Given the description of an element on the screen output the (x, y) to click on. 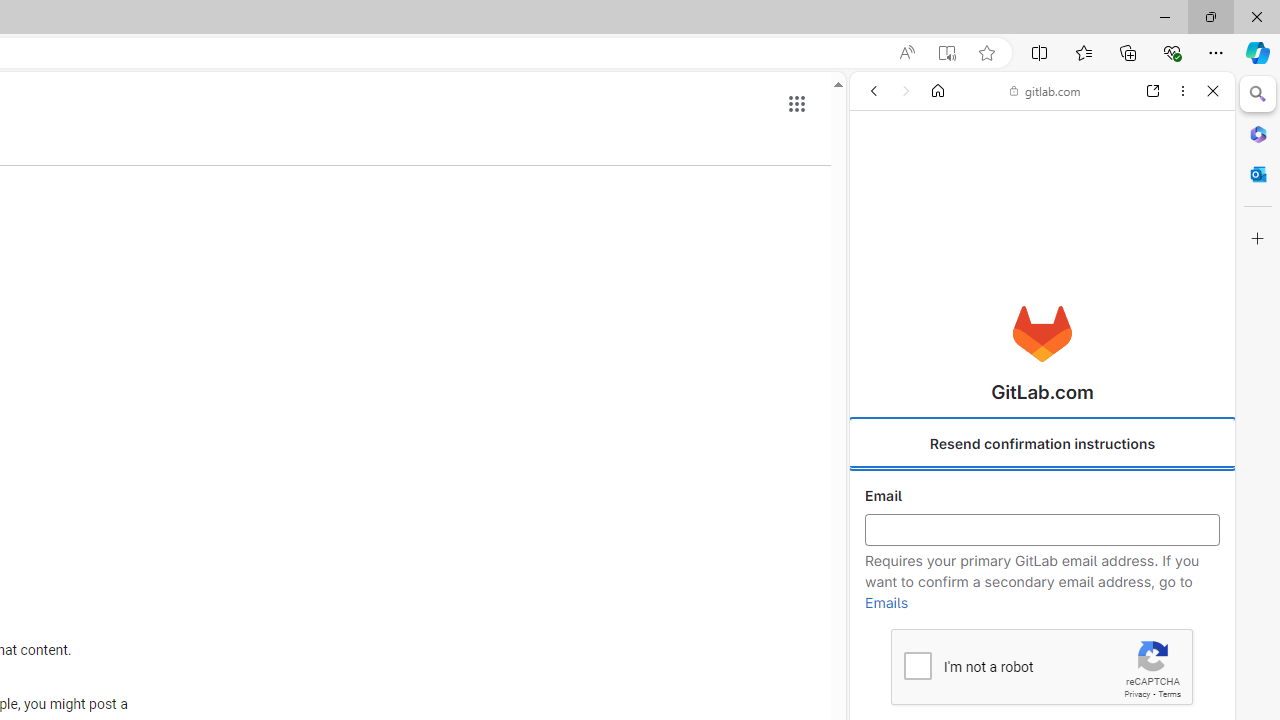
GitLab (1034, 288)
This site scope (936, 180)
Add this page to favorites (Ctrl+D) (986, 53)
Back (874, 91)
Microsoft 365 (1258, 133)
Open link in new tab (1153, 91)
Preferences (1189, 228)
I'm not a robot (916, 664)
Close Search pane (1258, 94)
Privacy (1136, 694)
Web scope (882, 180)
About GitLab (1042, 592)
